Given the description of an element on the screen output the (x, y) to click on. 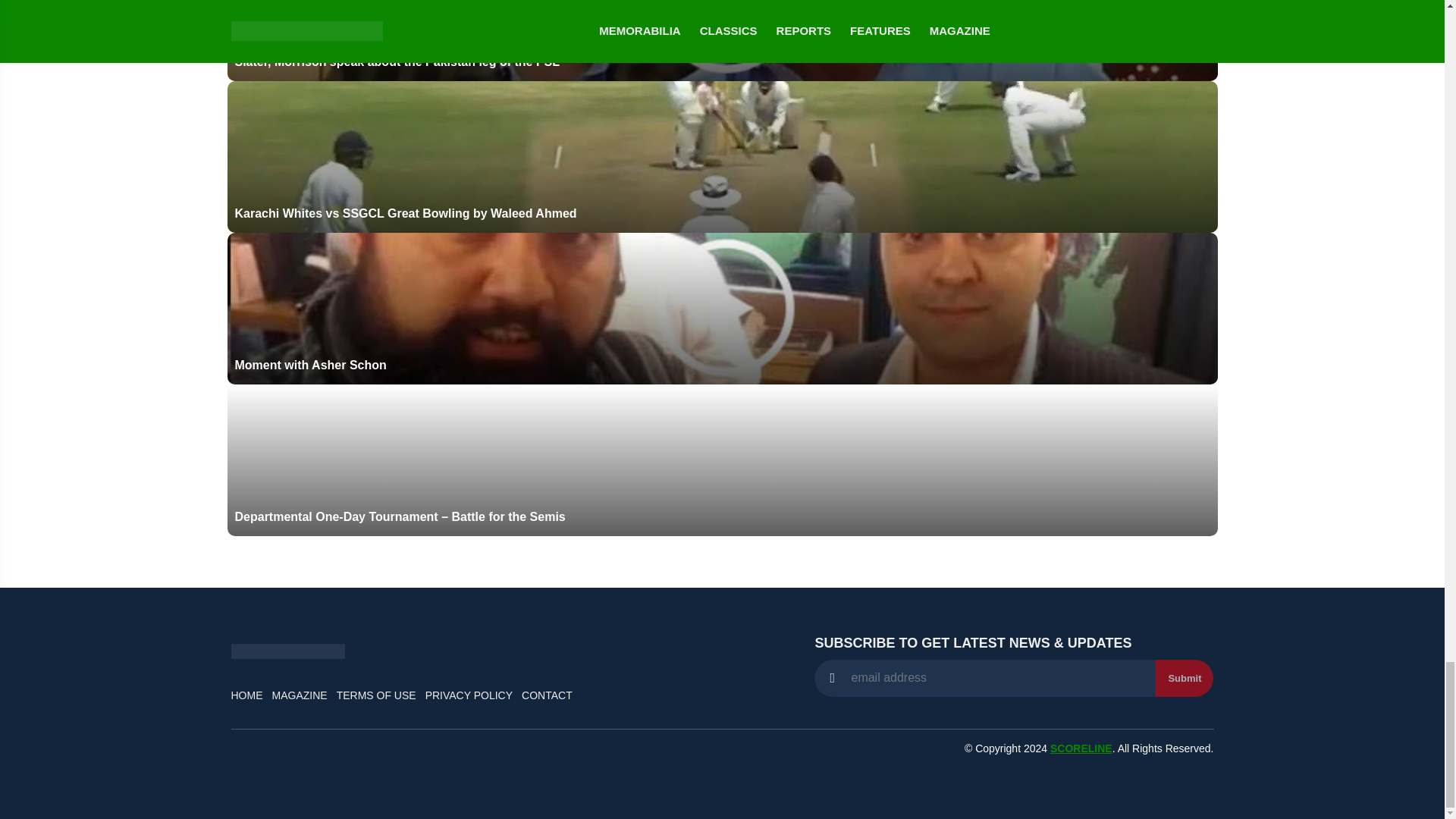
Slater, Morrison speak about the Pakistan leg of the PSL (722, 40)
